Given the description of an element on the screen output the (x, y) to click on. 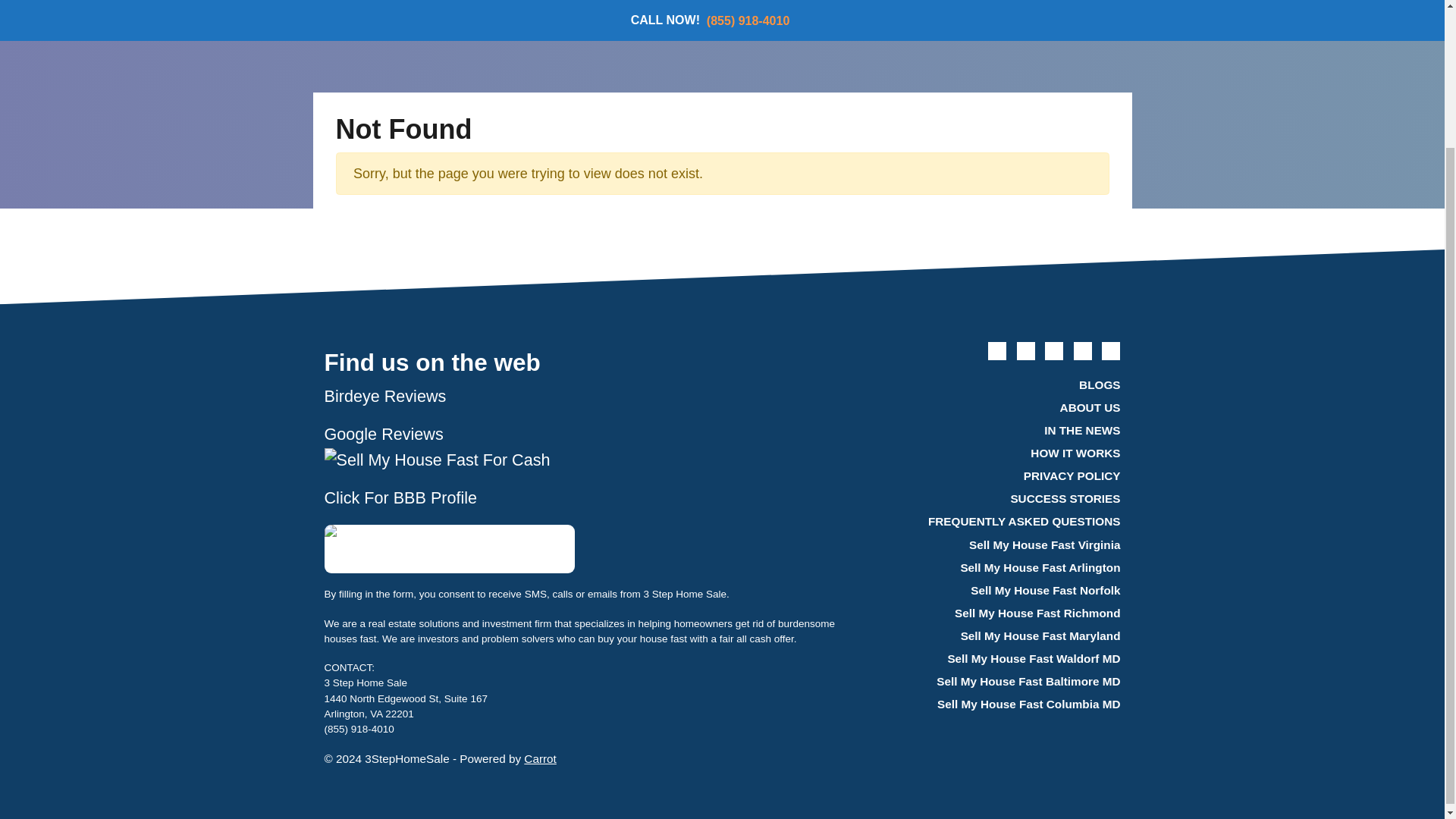
HOW IT WORKS (995, 453)
Instagram (1110, 351)
ABOUT US (995, 407)
Click For BBB Profile (400, 497)
Sell My House Fast Virginia (1011, 544)
FREQUENTLY ASKED QUESTIONS (995, 522)
Sell My House Fast Columbia MD (995, 704)
Sell My House Fast Norfolk (1011, 590)
BLOGS (995, 384)
Google Reviews  (386, 434)
